Given the description of an element on the screen output the (x, y) to click on. 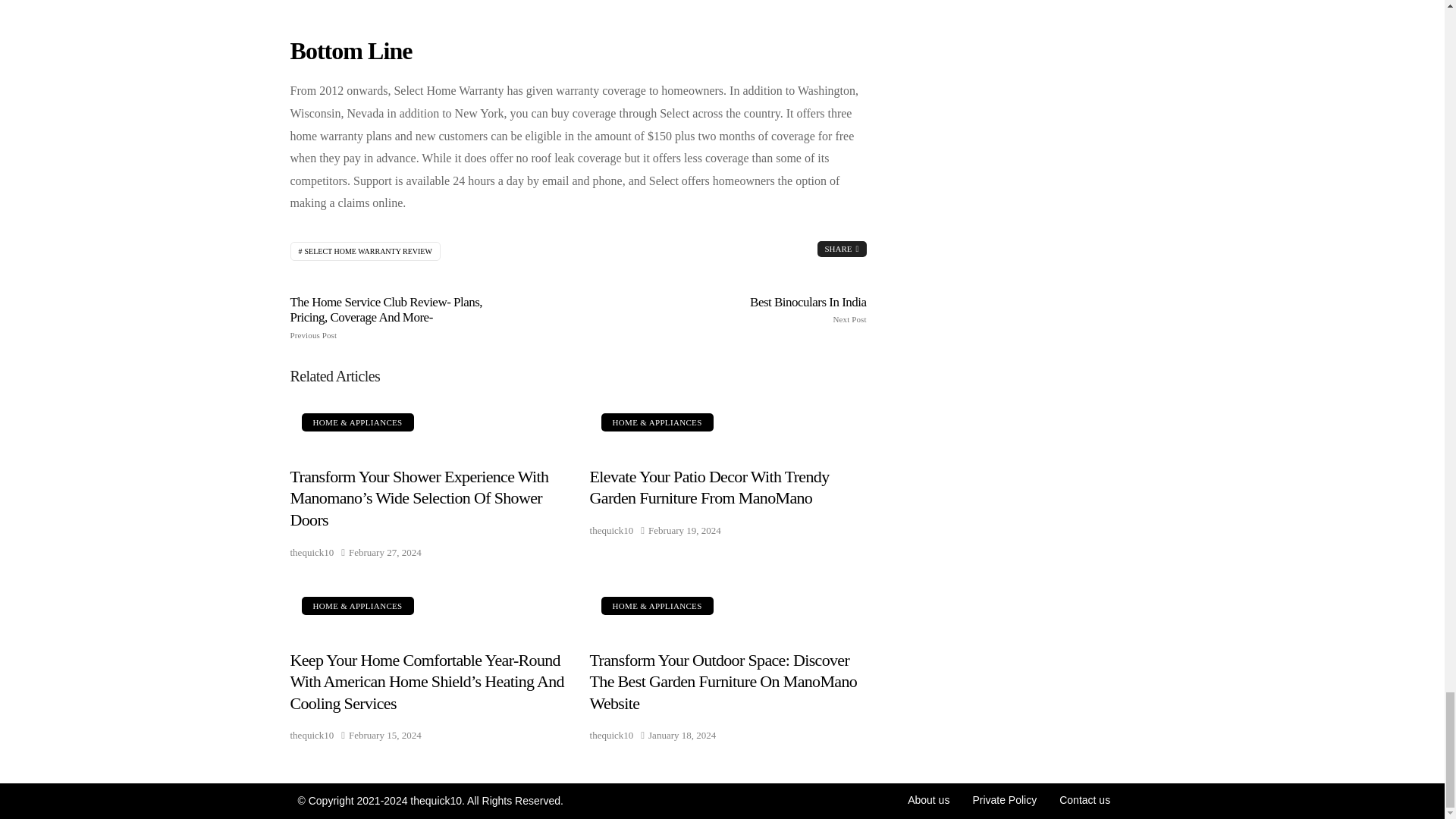
Posts by thequick10 (611, 734)
Posts by thequick10 (311, 734)
Posts by thequick10 (611, 529)
Posts by thequick10 (311, 551)
